Given the description of an element on the screen output the (x, y) to click on. 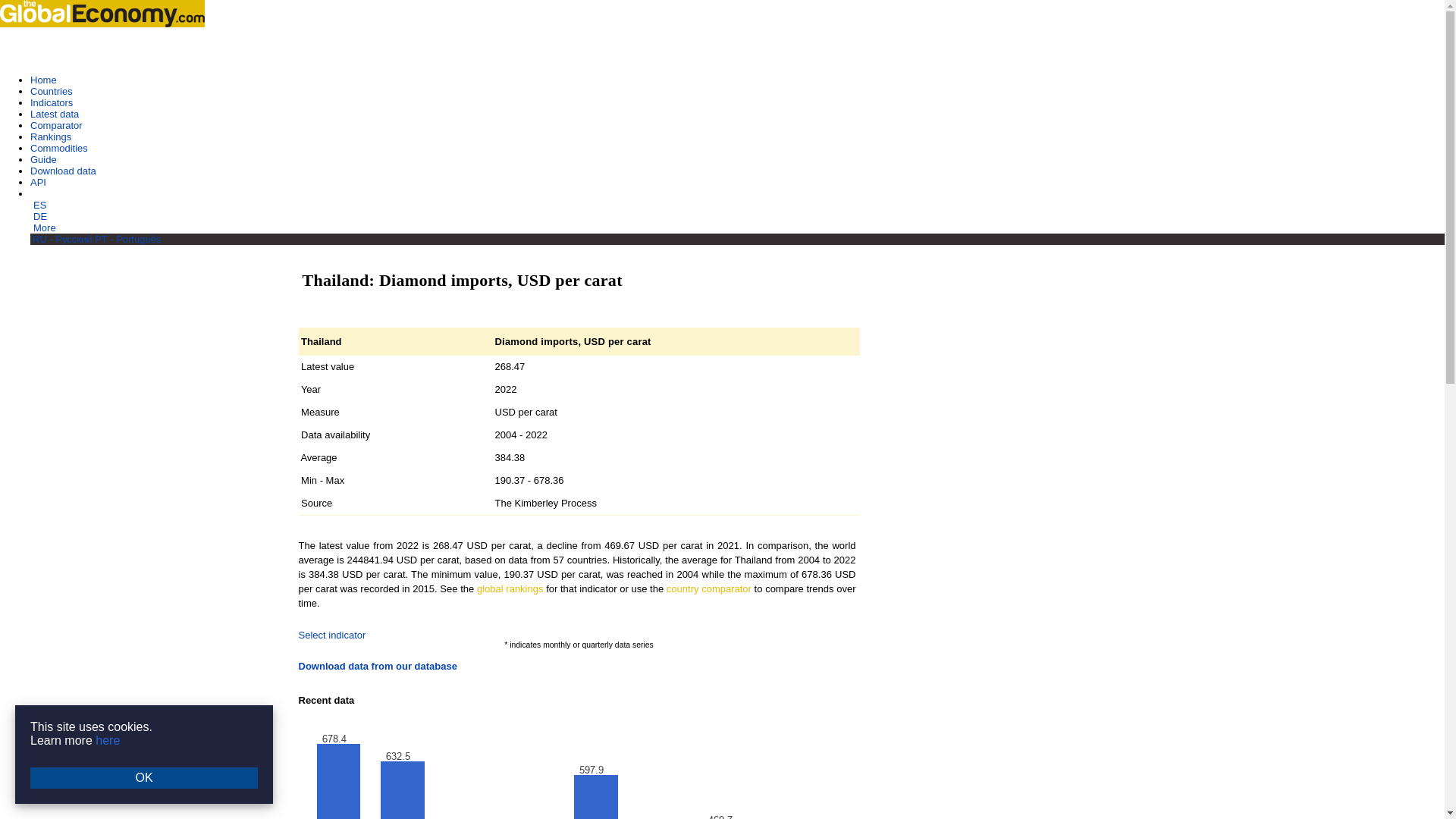
Indicators (51, 102)
Countries (51, 91)
Latest data (54, 113)
global rankings (510, 588)
Comparator (56, 125)
Select indicator (332, 634)
API (38, 182)
Download data (63, 170)
DE (39, 215)
Commodities (58, 147)
